Given the description of an element on the screen output the (x, y) to click on. 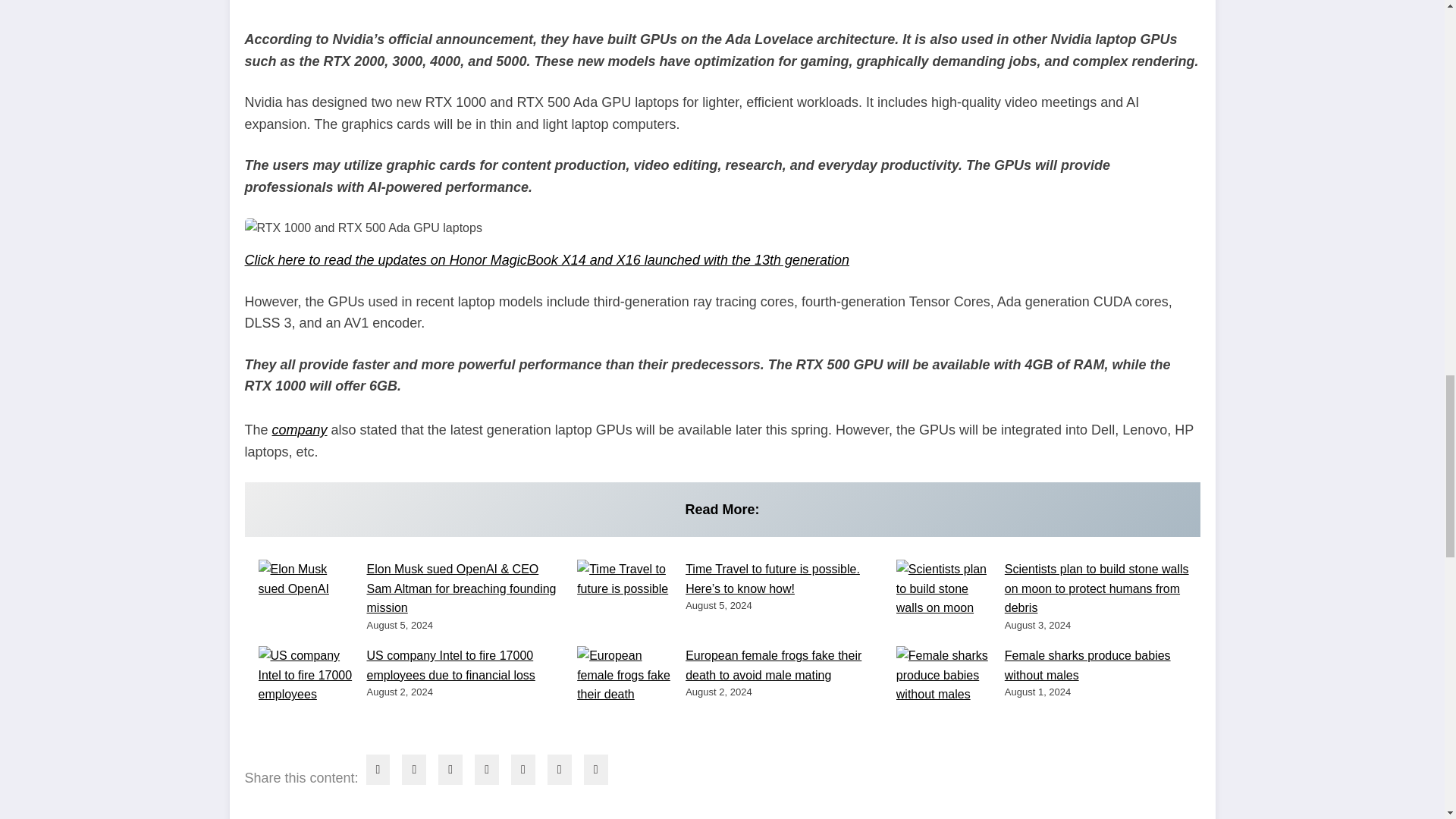
company (299, 429)
European female frogs fake their death to avoid male mating (773, 665)
Female sharks produce babies without males (1087, 665)
